Given the description of an element on the screen output the (x, y) to click on. 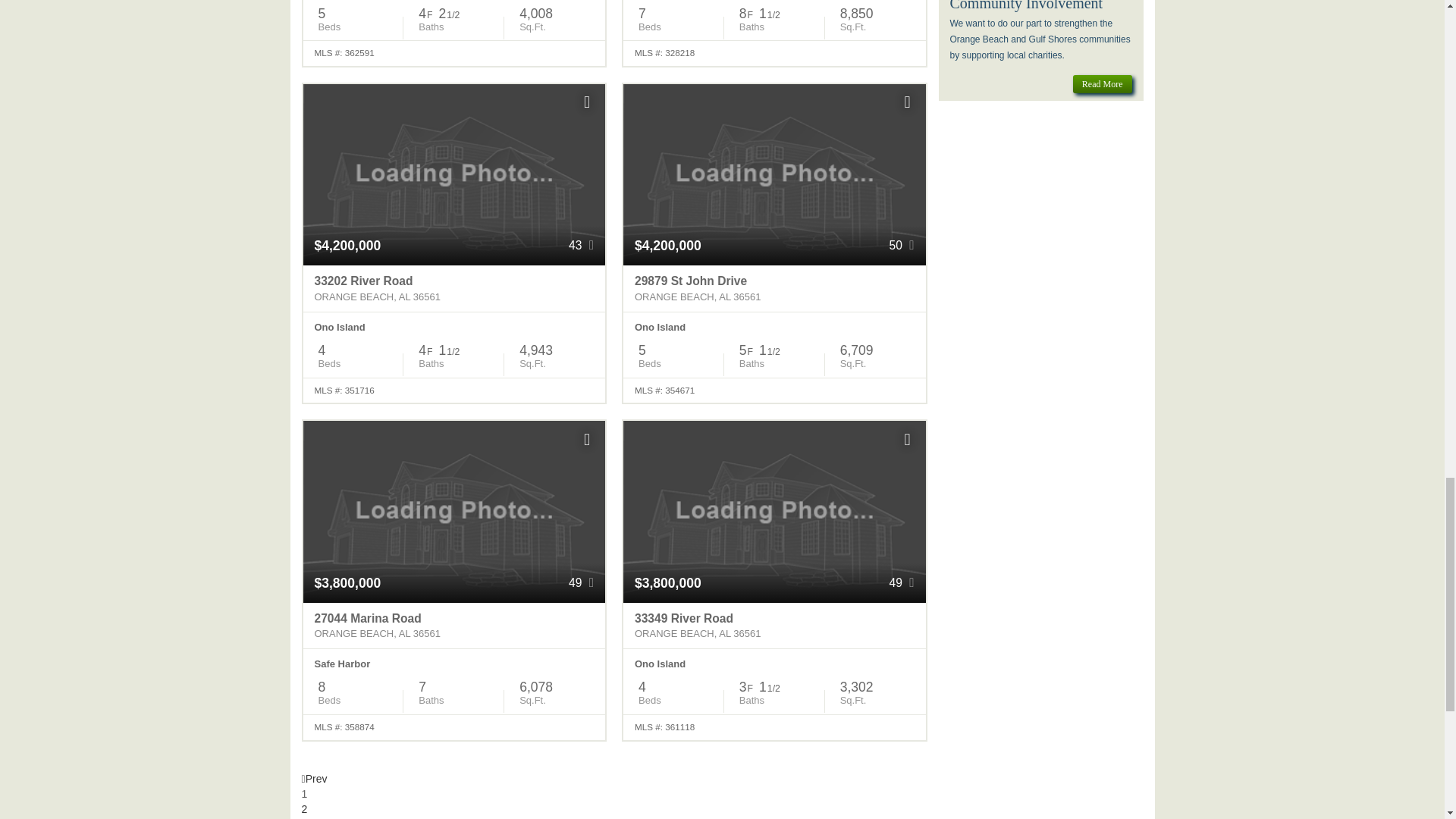
29879 St John Drive Orange Beach,  AL 36561 (774, 288)
27044 Marina Road Orange Beach,  AL 36561 (453, 626)
33349 River Road Orange Beach,  AL 36561 (774, 626)
33202 River Road Orange Beach,  AL 36561 (453, 288)
